Given the description of an element on the screen output the (x, y) to click on. 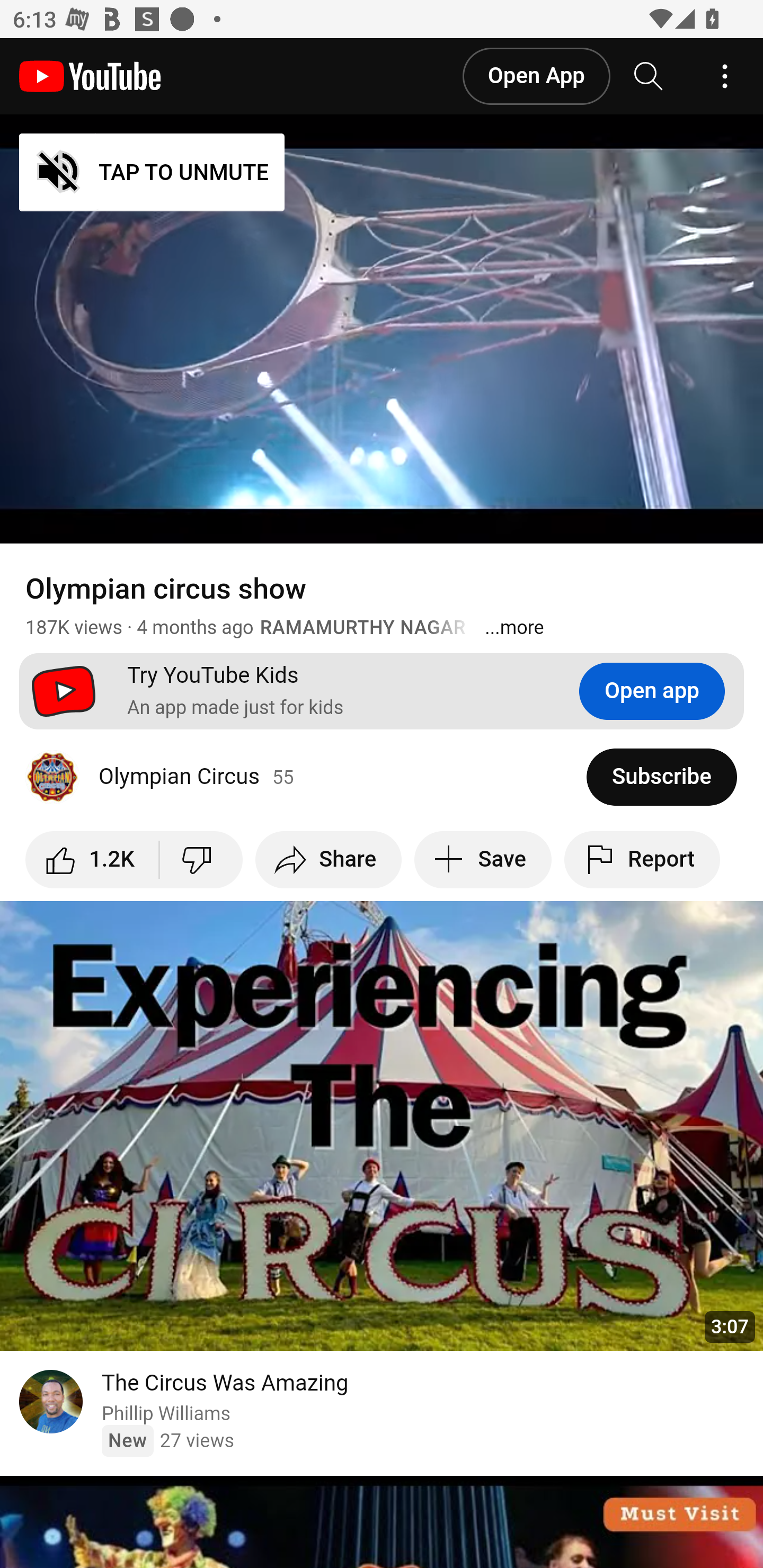
YouTube (89, 75)
Search YouTube (648, 75)
Account (724, 75)
Open App (535, 76)
YouTube Video Player TAP TO UNMUTE (381, 329)
TAP TO UNMUTE (152, 172)
Show more (514, 626)
RAMAMURTHY NAGAR (362, 627)
Open app (651, 691)
Subscribe to Olympian Circus. (661, 776)
Olympian Circus (305, 776)
like this video along with 1,265 other people (92, 860)
Dislike this video (200, 860)
Share (328, 860)
Save to playlist (483, 860)
Report (642, 860)
Go to channel (50, 1403)
New (127, 1439)
